Given the description of an element on the screen output the (x, y) to click on. 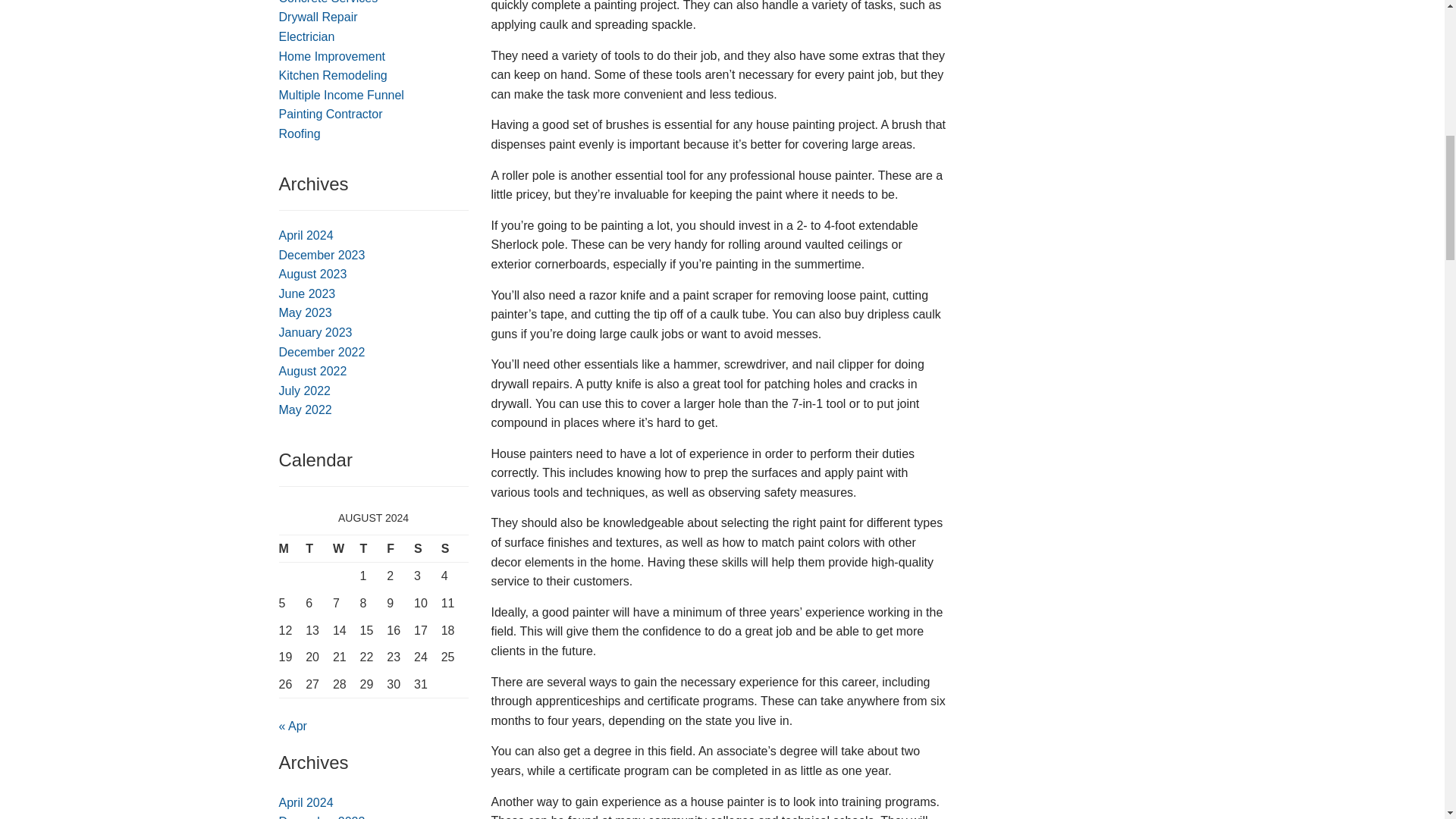
August 2023 (313, 273)
Electrician (306, 36)
Roofing (299, 133)
Multiple Income Funnel (341, 94)
Concrete Services (328, 2)
Home Improvement (332, 56)
Saturday (427, 548)
December 2022 (322, 351)
August 2022 (313, 370)
Monday (292, 548)
